Given the description of an element on the screen output the (x, y) to click on. 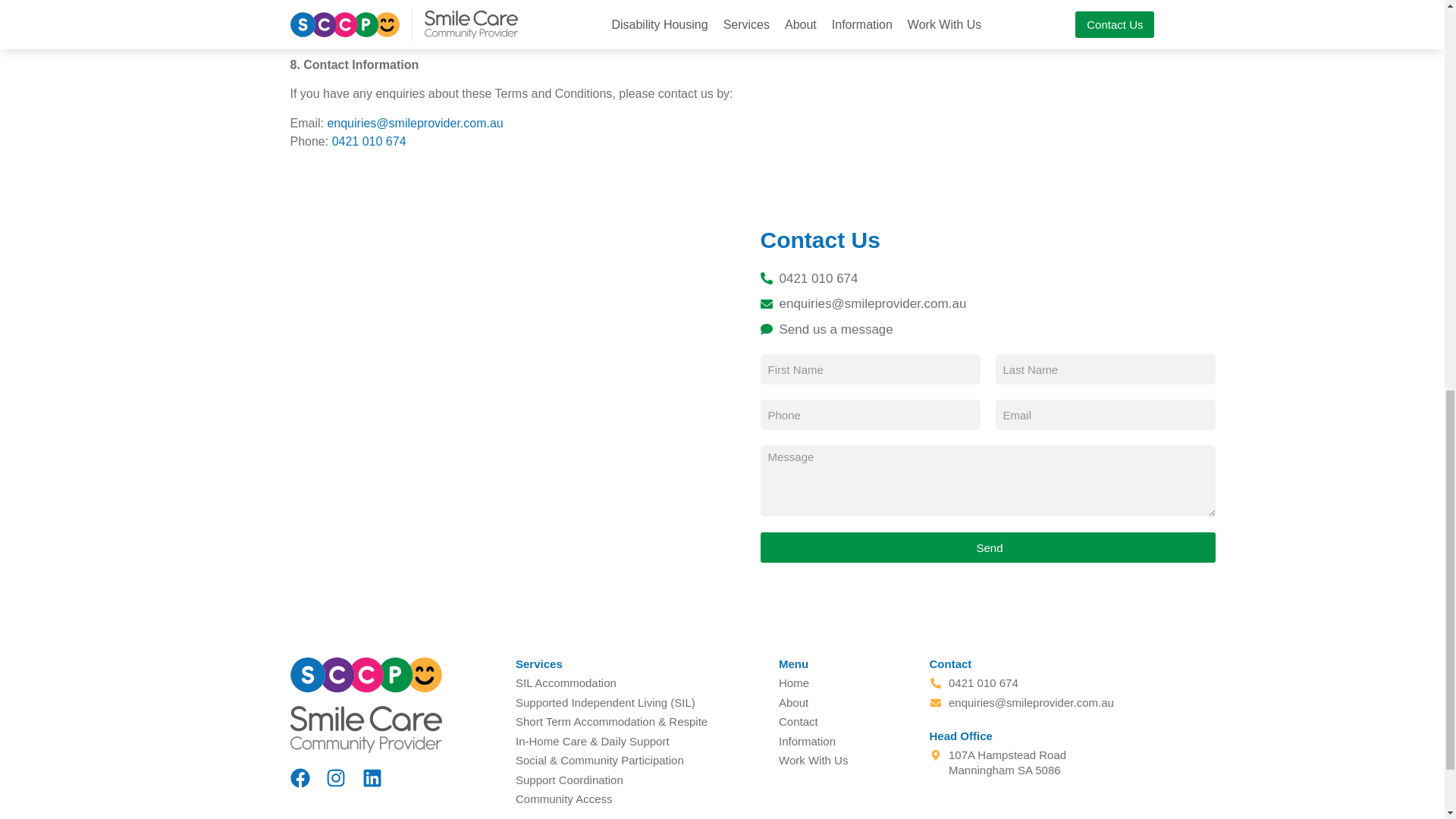
0421 010 674 (368, 141)
Send (987, 547)
0421 010 674 (1083, 278)
